Given the description of an element on the screen output the (x, y) to click on. 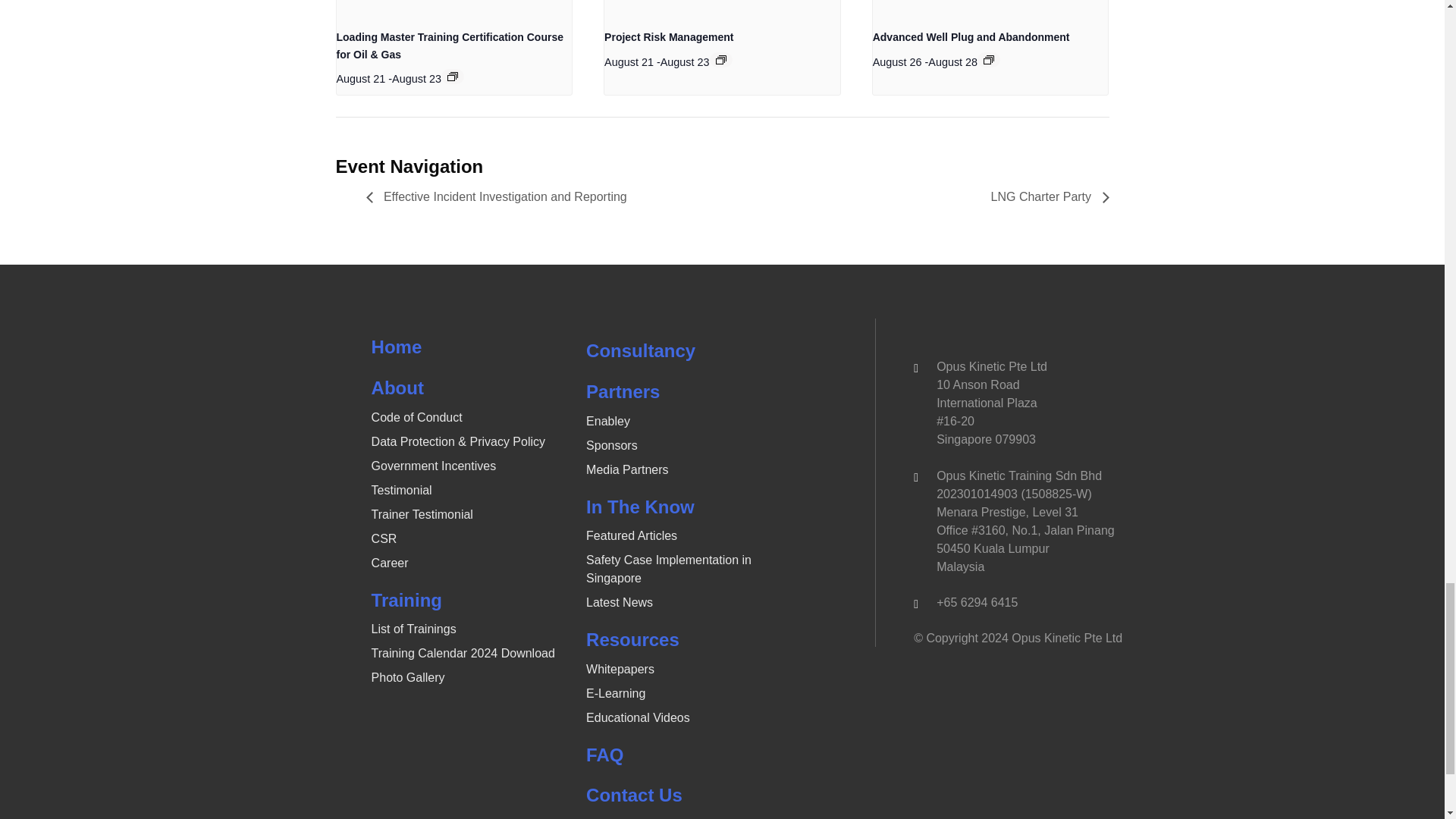
Event Series (989, 59)
Event Series (452, 76)
Event Series (721, 59)
